Given the description of an element on the screen output the (x, y) to click on. 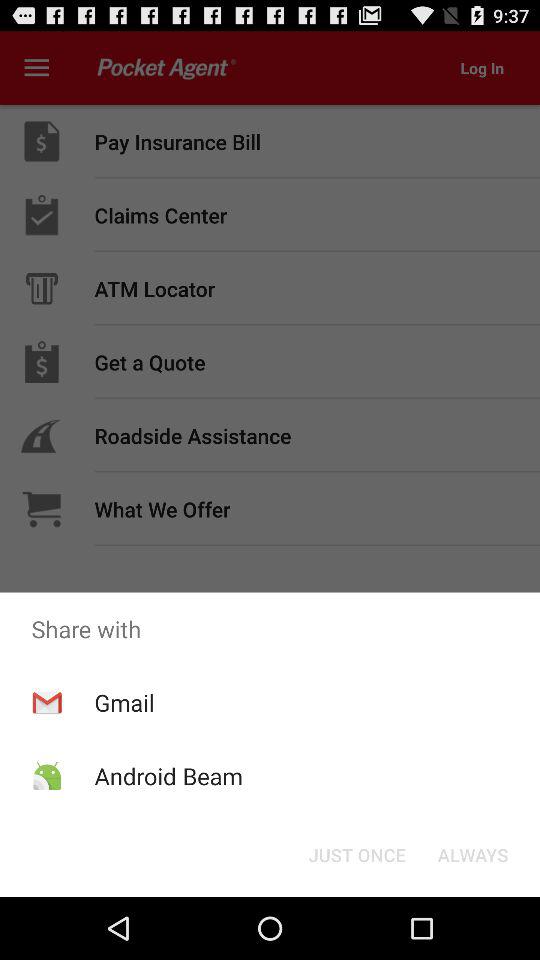
flip until the always icon (472, 854)
